Given the description of an element on the screen output the (x, y) to click on. 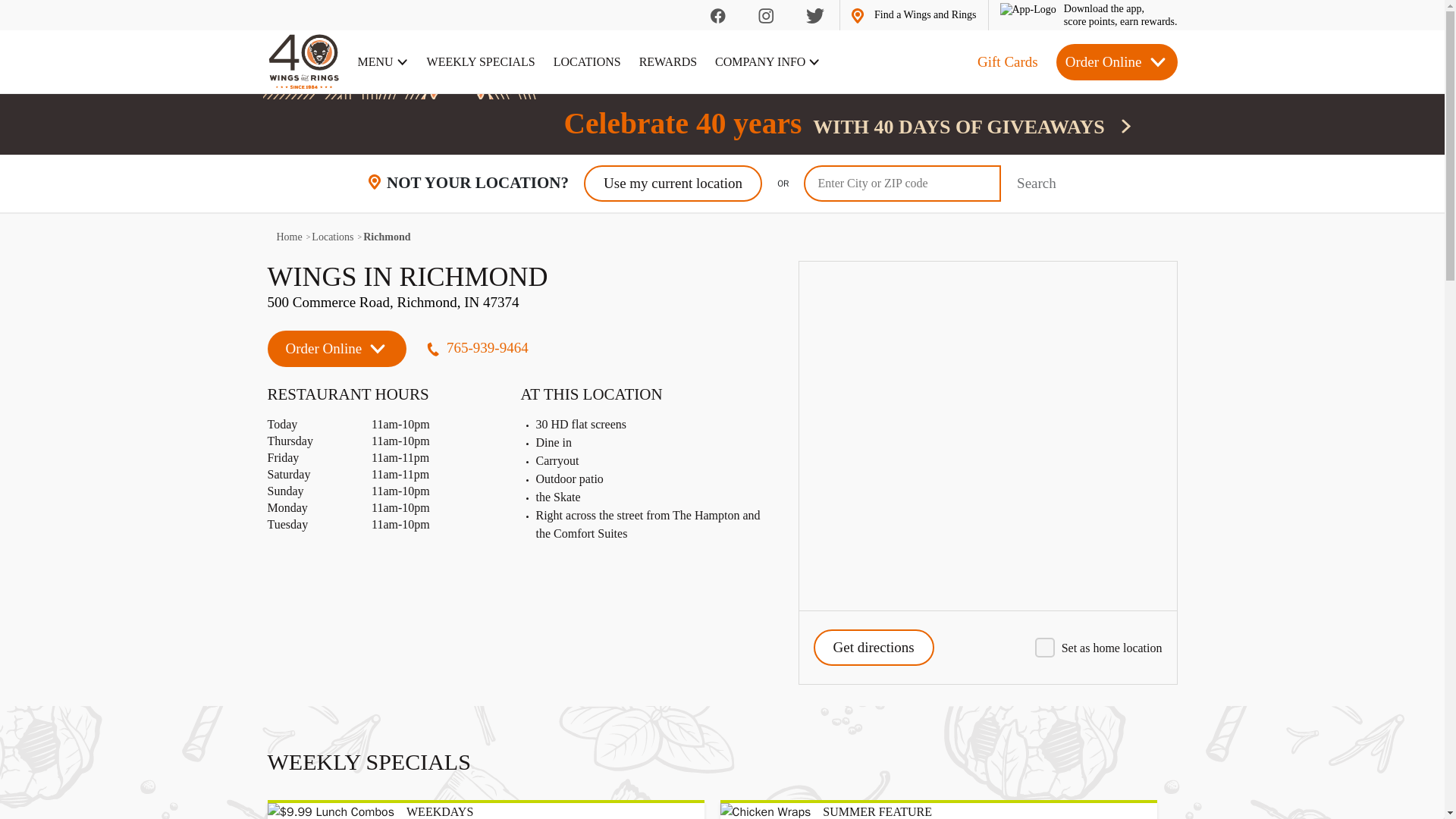
Home (288, 236)
COMPANY INFO (1087, 14)
LOCATIONS (767, 61)
MENU (587, 61)
Find a Wings and Rings (383, 61)
Set as home location (913, 14)
Chicken Wraps (521, 323)
on (765, 811)
REWARDS (521, 323)
